Given the description of an element on the screen output the (x, y) to click on. 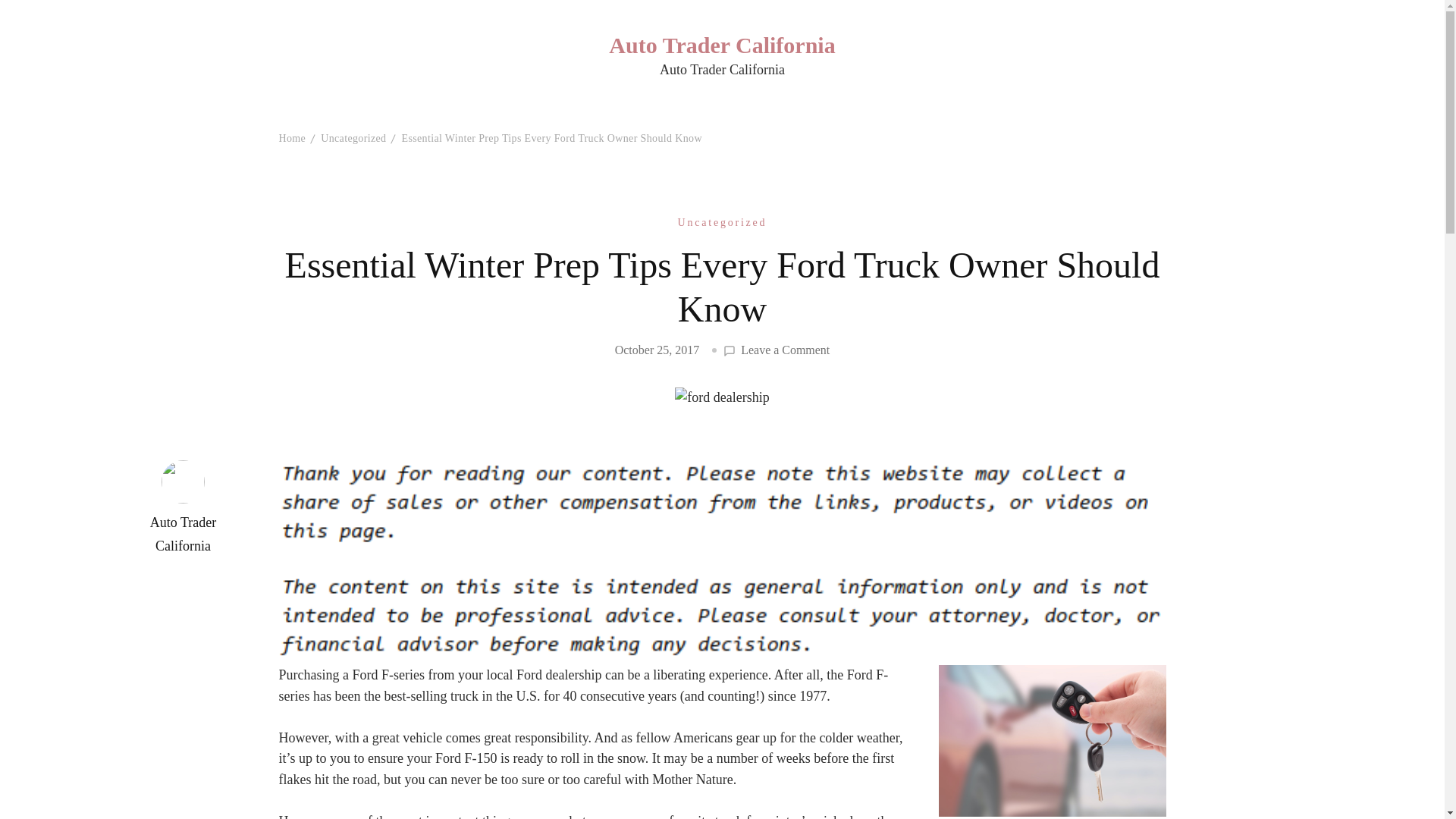
Auto Trader California (721, 44)
October 25, 2017 (657, 349)
Uncategorized (722, 221)
Uncategorized (352, 138)
Home (292, 138)
